Given the description of an element on the screen output the (x, y) to click on. 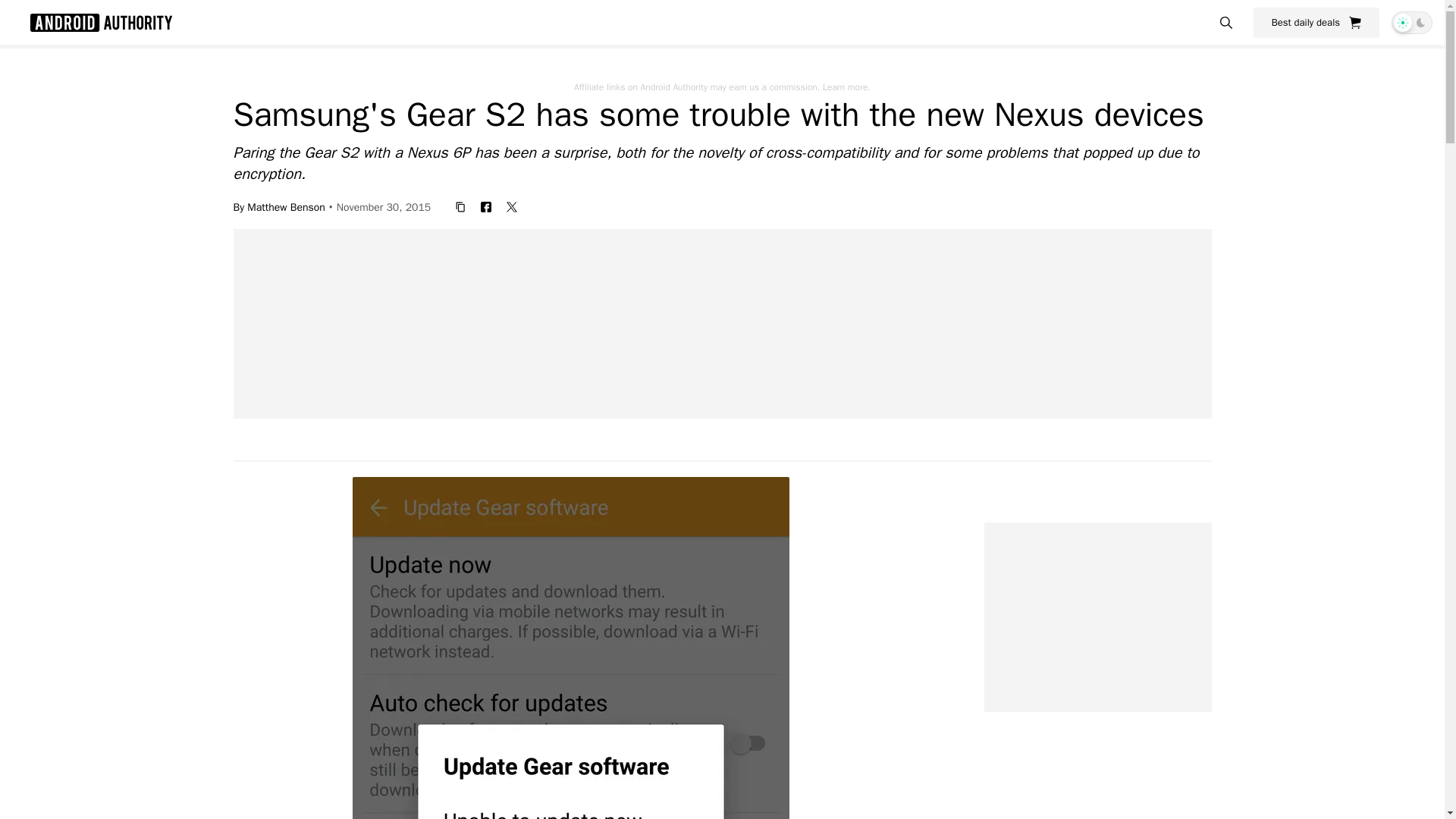
facebook (486, 207)
Matthew Benson (285, 206)
Best daily deals (1315, 22)
Learn more. (846, 86)
twitter (511, 207)
